Given the description of an element on the screen output the (x, y) to click on. 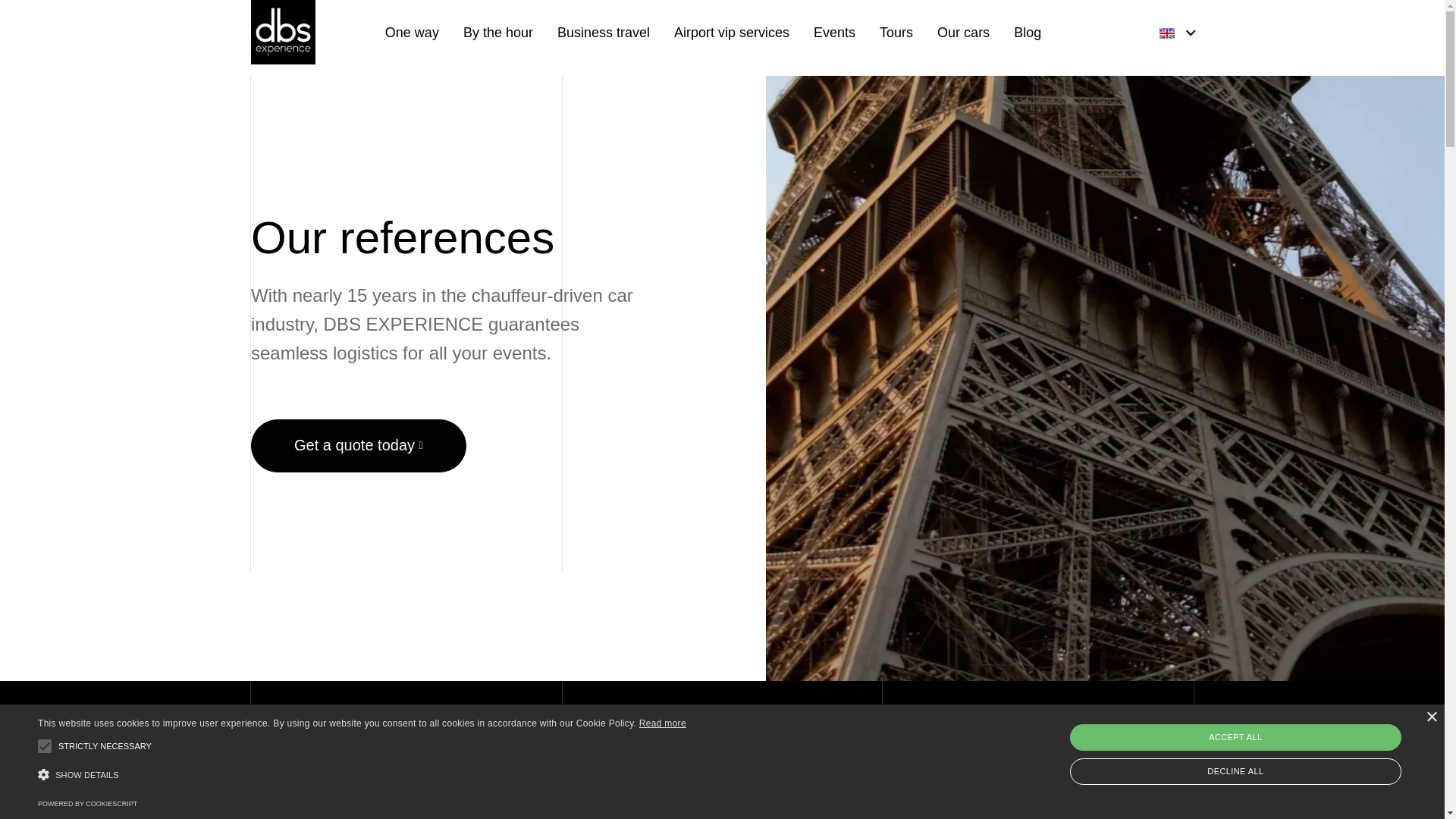
Consent Management Platform (86, 803)
Blog (1027, 31)
Business travel (603, 31)
Tours (895, 31)
One way (412, 31)
Events (834, 31)
Airport vip services (731, 31)
By the hour (497, 31)
Our cars (963, 31)
